Given the description of an element on the screen output the (x, y) to click on. 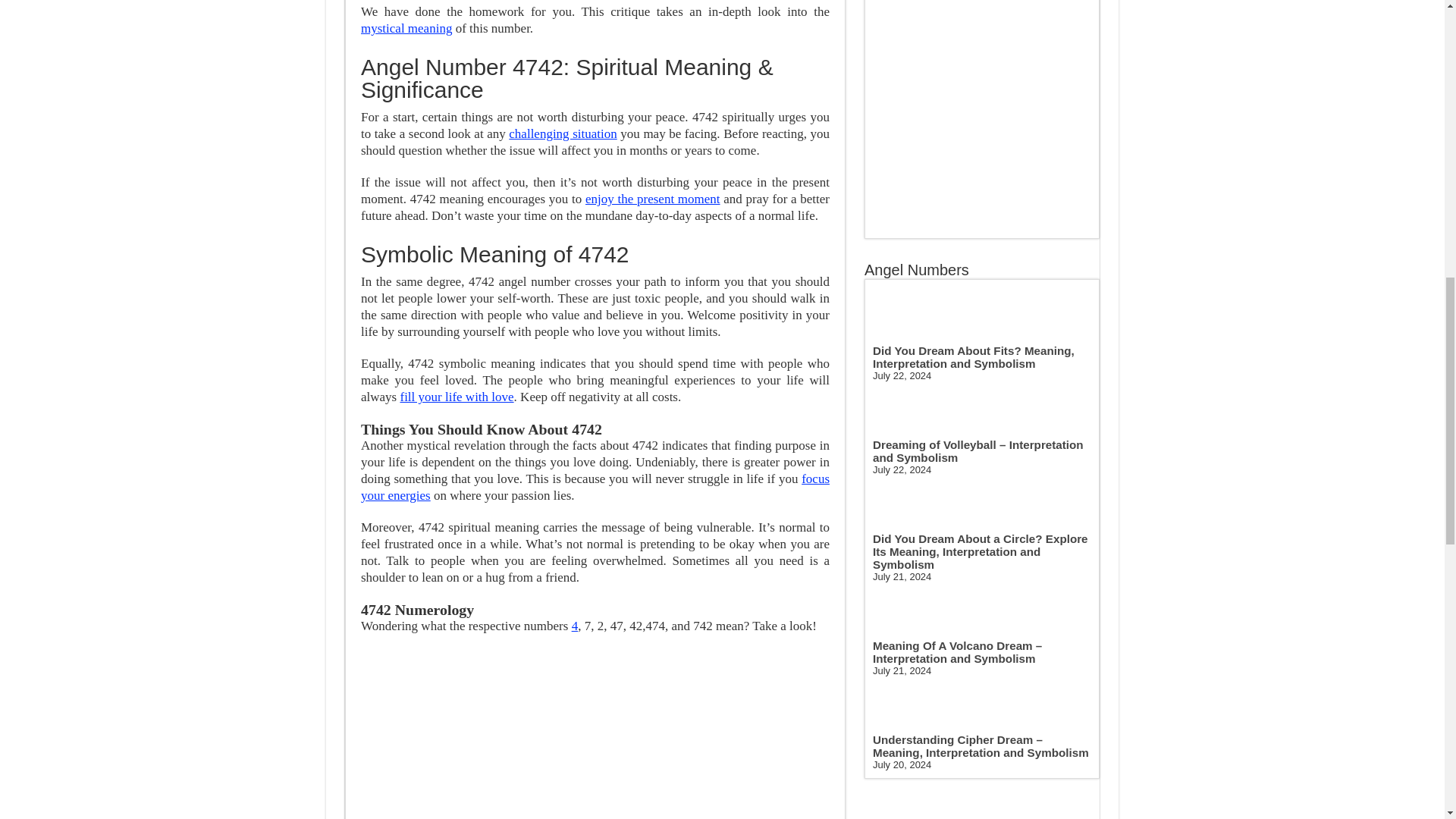
fill your life with love (455, 396)
enjoy the present moment (652, 198)
focus your energies (595, 486)
challenging situation (561, 133)
mystical meaning (406, 28)
